Given the description of an element on the screen output the (x, y) to click on. 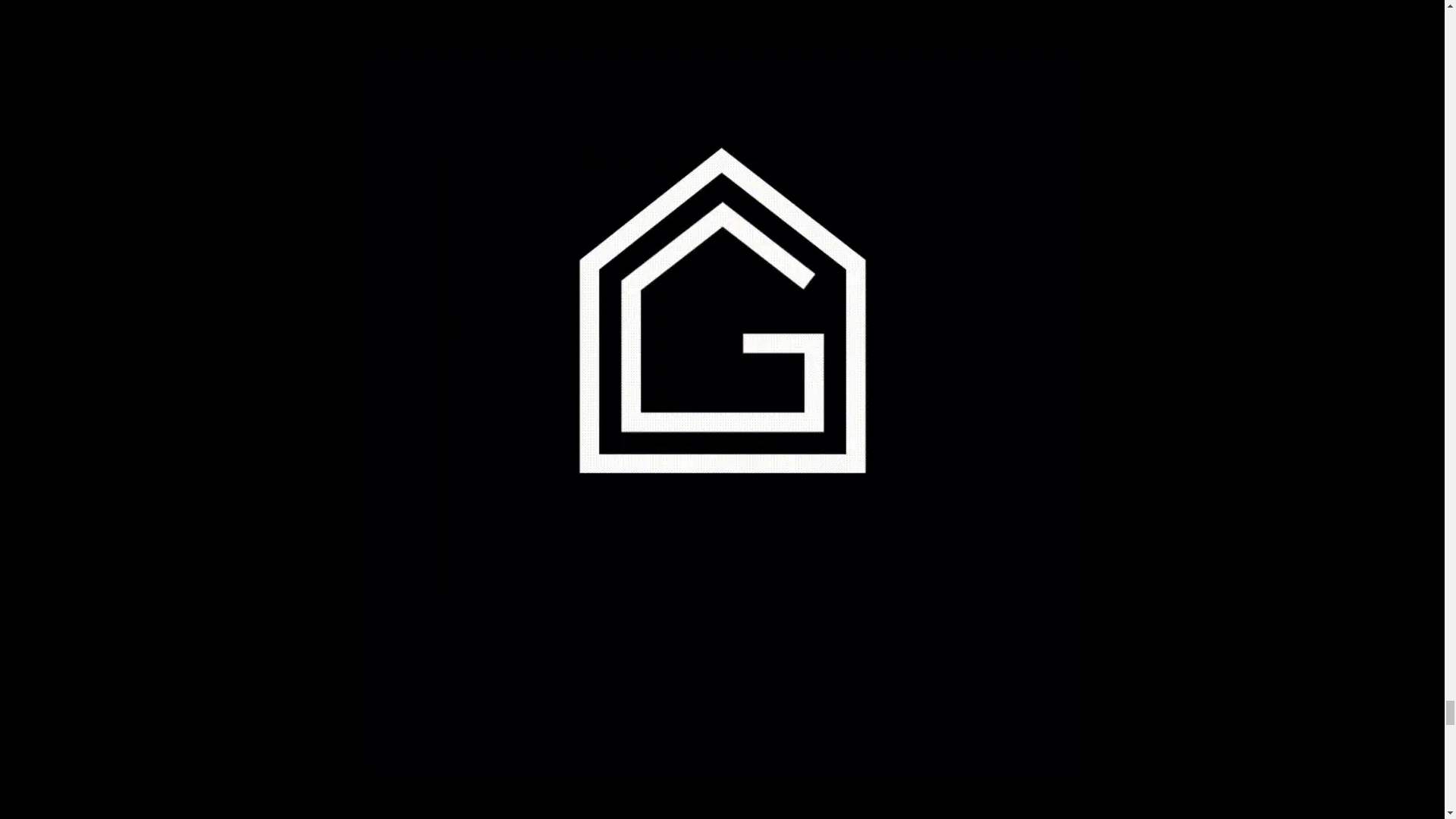
Request Info (798, 552)
